Given the description of an element on the screen output the (x, y) to click on. 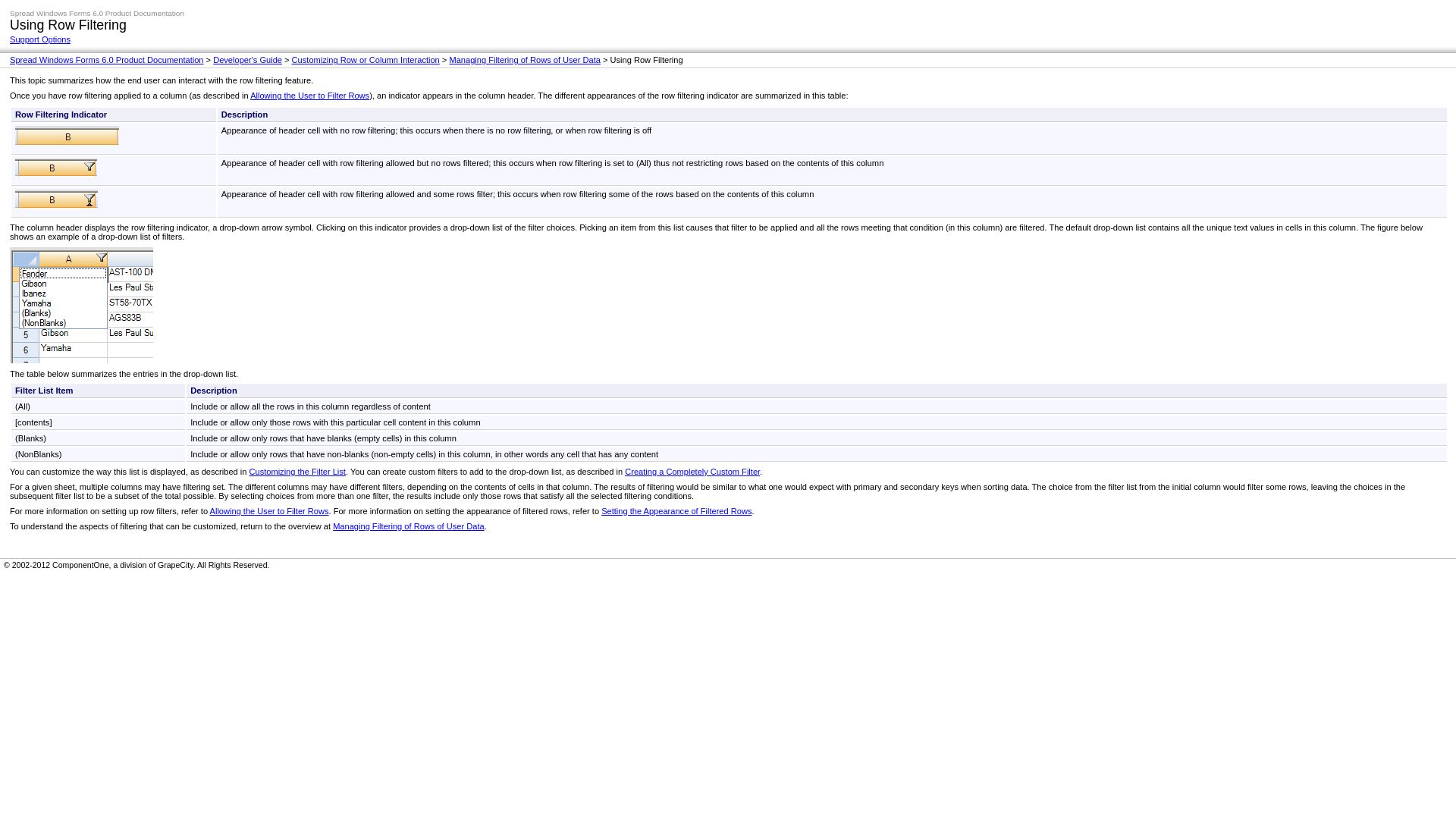
Customizing the Filter List (296, 470)
Spread Windows Forms 6.0 Product Documentation (106, 59)
Allowing the User to Filter Rows (269, 510)
Allowing the User to Filter Rows (309, 94)
Developer's Guide (247, 59)
Managing Filtering of Rows of User Data (523, 59)
Support Options (39, 39)
Customizing Row or Column Interaction (365, 59)
Creating a Completely Custom Filter (692, 470)
Managing Filtering of Rows of User Data (408, 525)
